Given the description of an element on the screen output the (x, y) to click on. 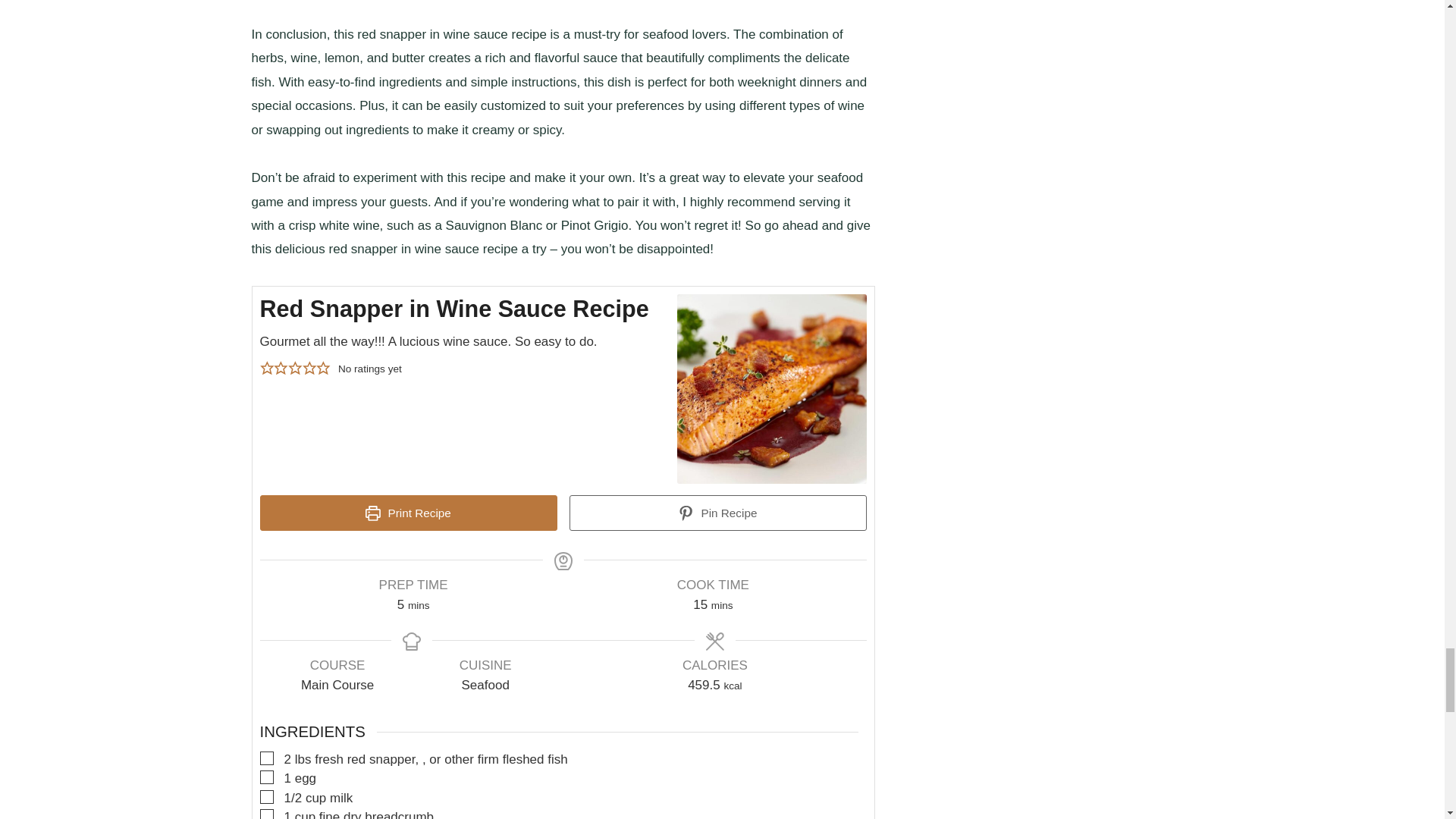
Print Recipe (407, 513)
Pin Recipe (717, 513)
